Given the description of an element on the screen output the (x, y) to click on. 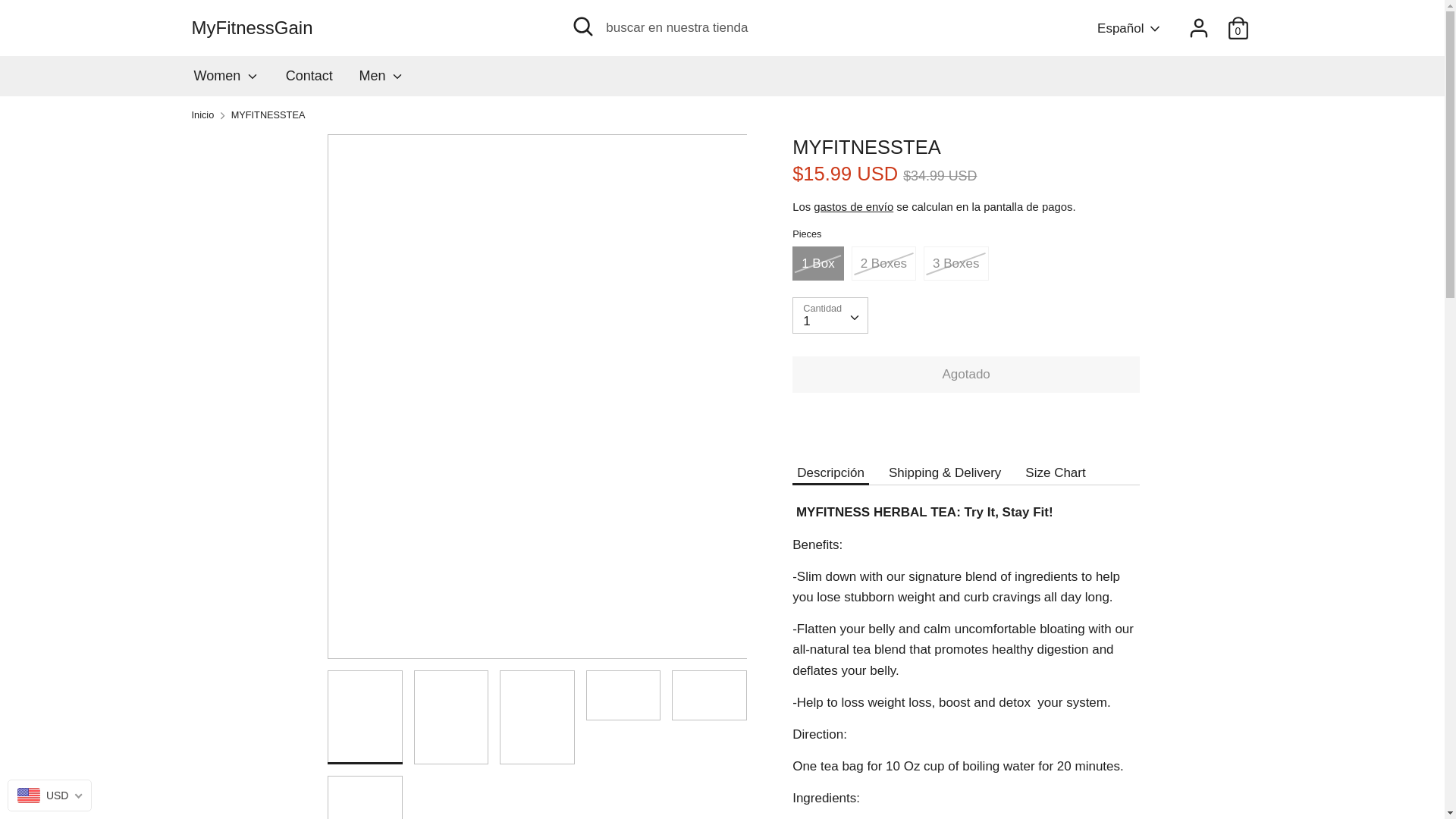
Contact (309, 80)
Men (381, 80)
1 (830, 315)
MyFitnessGain (361, 27)
Women (226, 80)
0 (1237, 22)
